Given the description of an element on the screen output the (x, y) to click on. 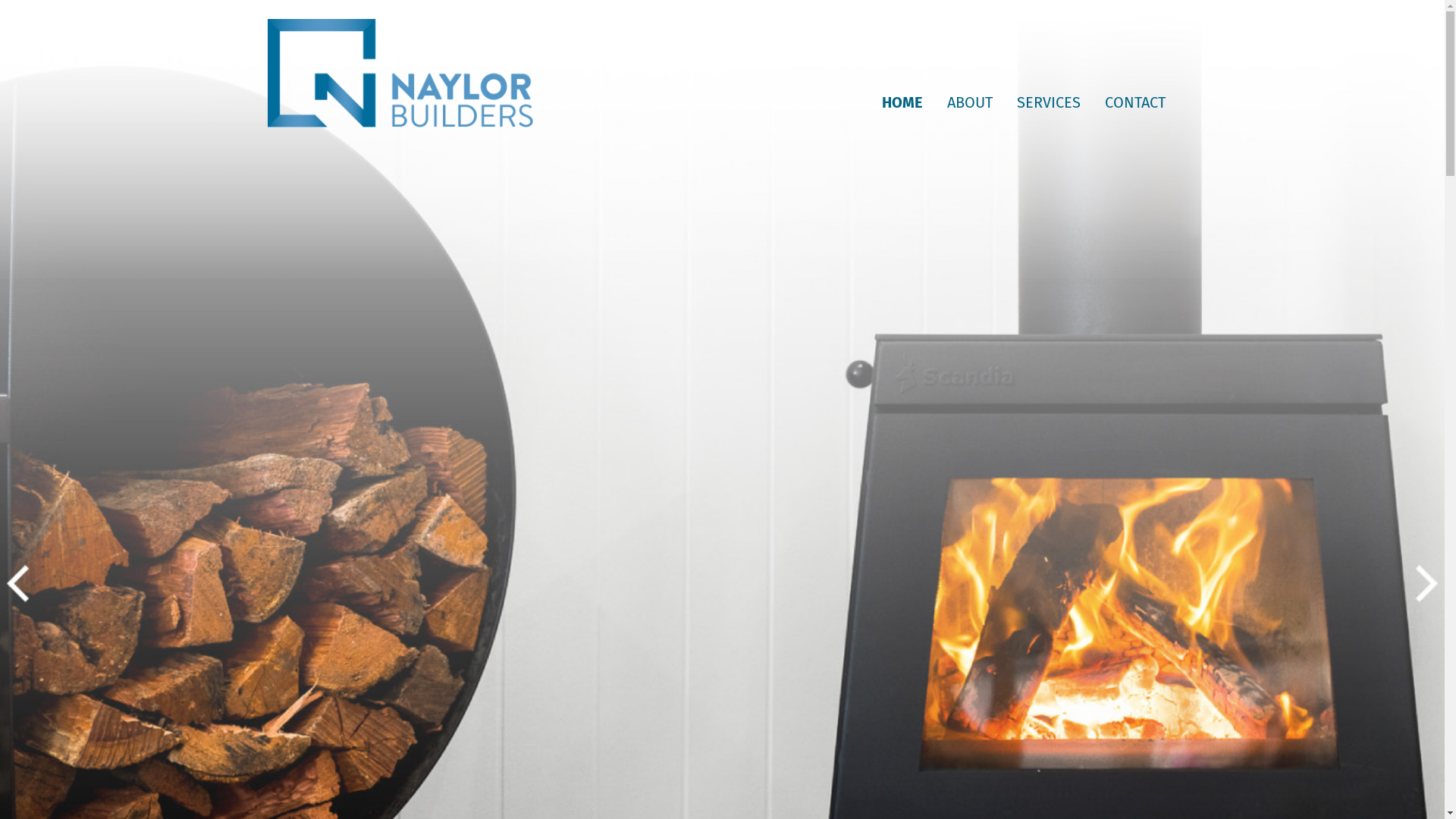
SERVICES Element type: text (1048, 101)
HOME Element type: text (901, 101)
CONTACT Element type: text (1134, 101)
ABOUT Element type: text (969, 101)
